Given the description of an element on the screen output the (x, y) to click on. 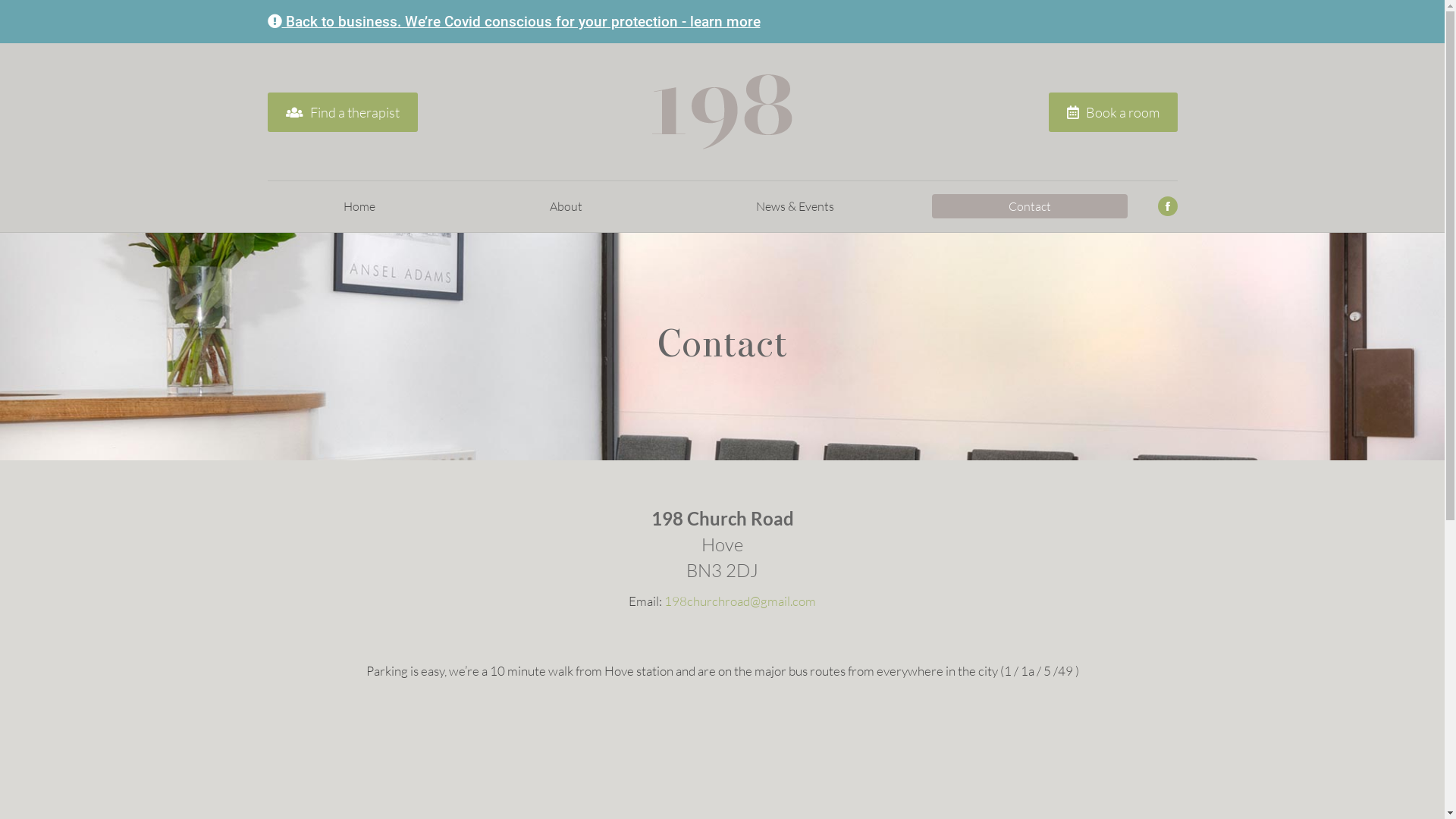
Find a therapist Element type: text (341, 111)
News & Events Element type: text (794, 206)
Facebook Element type: text (1166, 205)
Book a room Element type: text (1112, 111)
About Element type: text (565, 206)
198churchroad@gmail.com Element type: text (739, 600)
Home Element type: text (358, 206)
Contact Element type: text (1029, 206)
